Given the description of an element on the screen output the (x, y) to click on. 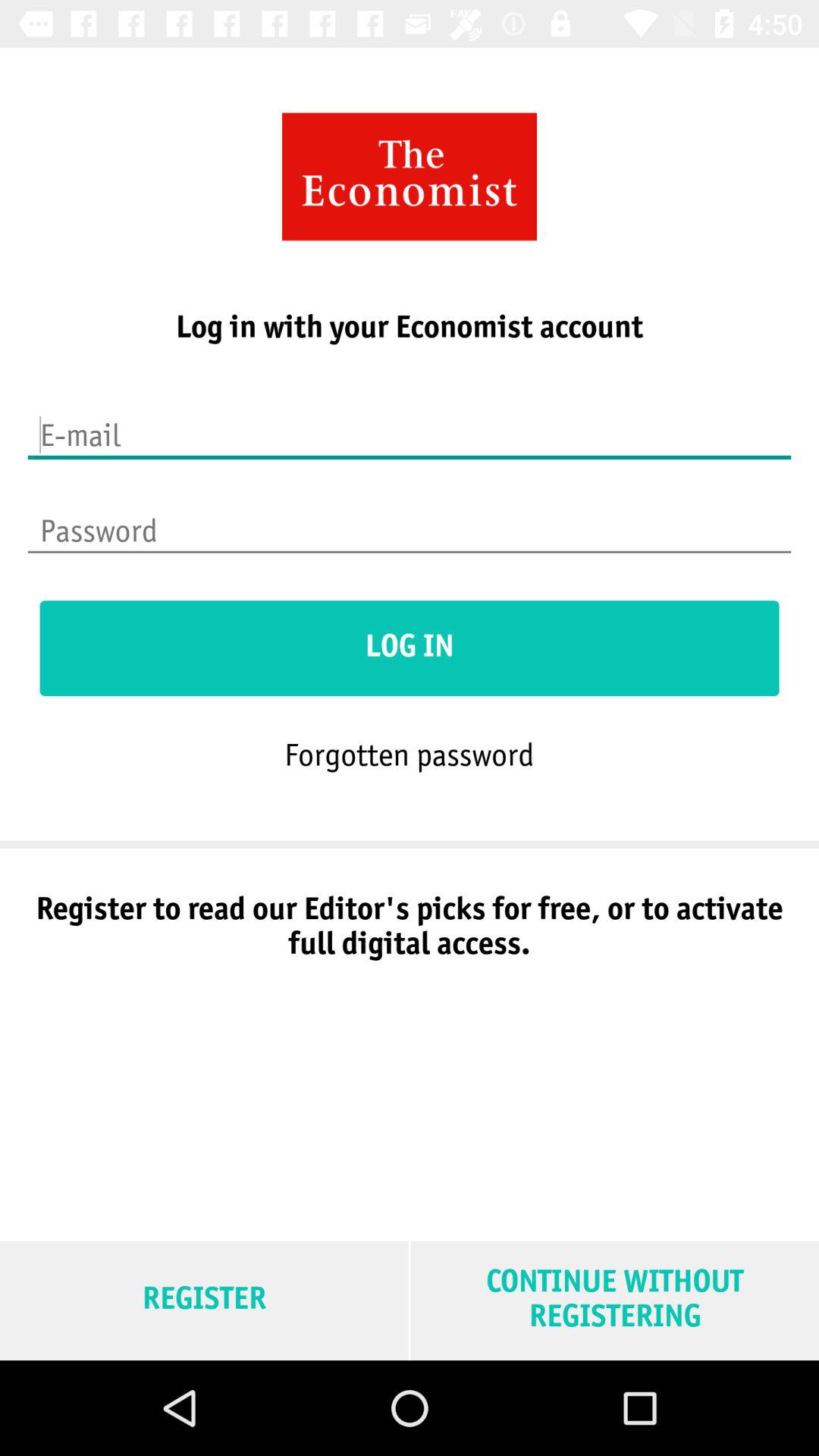
enter email (409, 425)
